Given the description of an element on the screen output the (x, y) to click on. 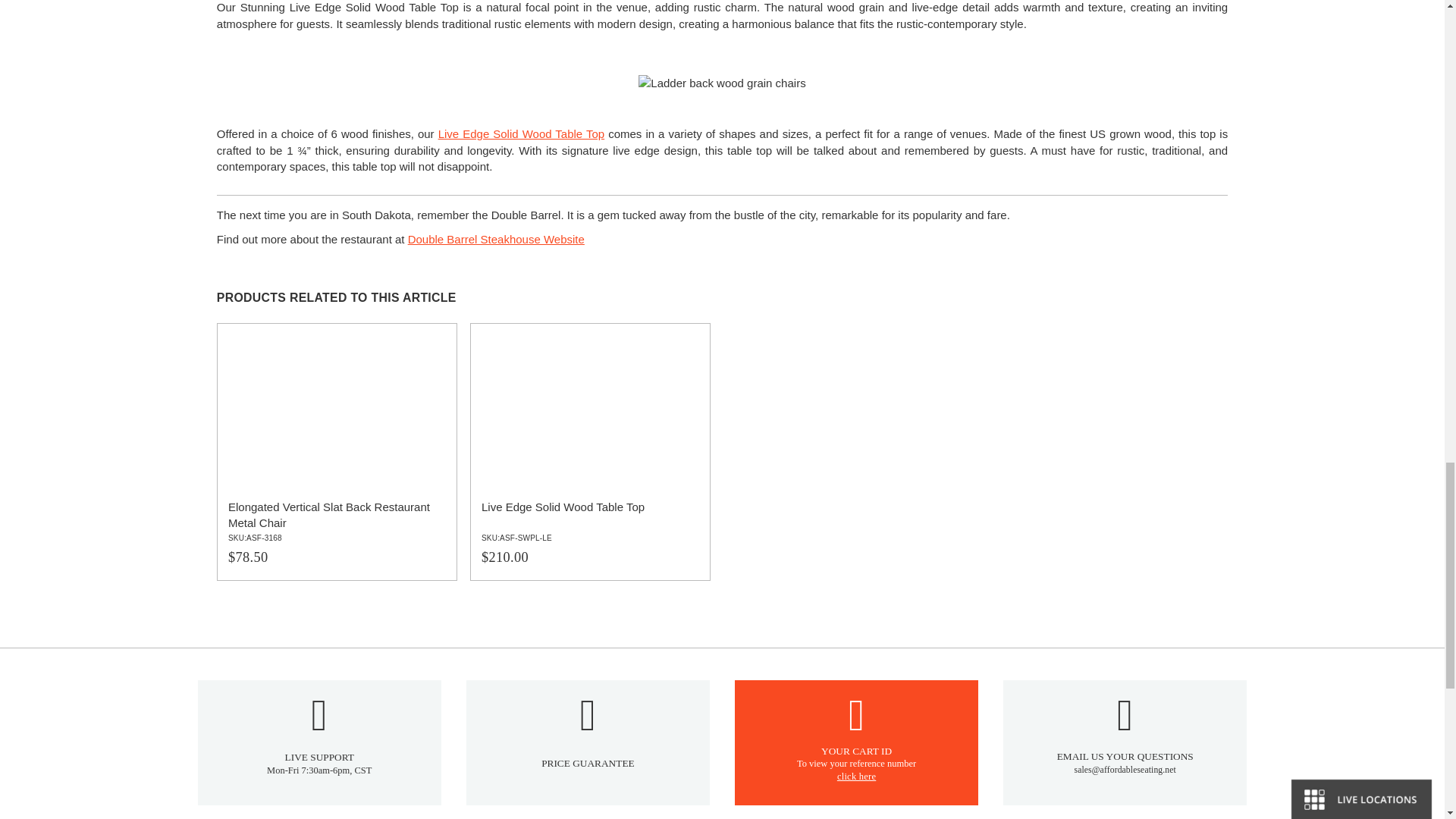
Live Edge Solid Wood Table Top (590, 451)
Elongated Vertical Slat Back Restaurant Metal Chair (336, 451)
